Given the description of an element on the screen output the (x, y) to click on. 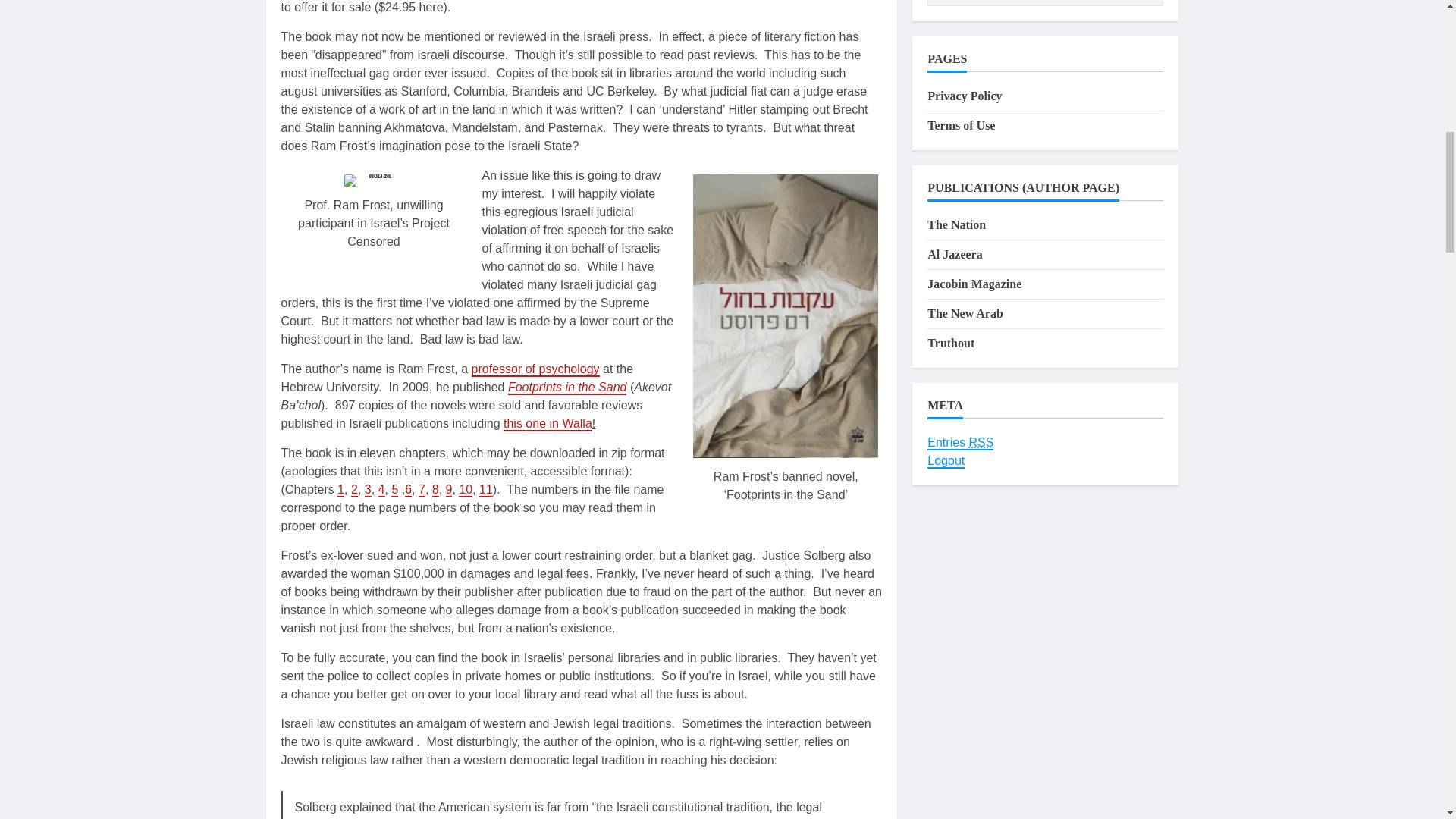
Footprints in the Sand (567, 387)
this one in Walla (547, 423)
Really Simple Syndication (981, 442)
professor of psychology (535, 369)
